Given the description of an element on the screen output the (x, y) to click on. 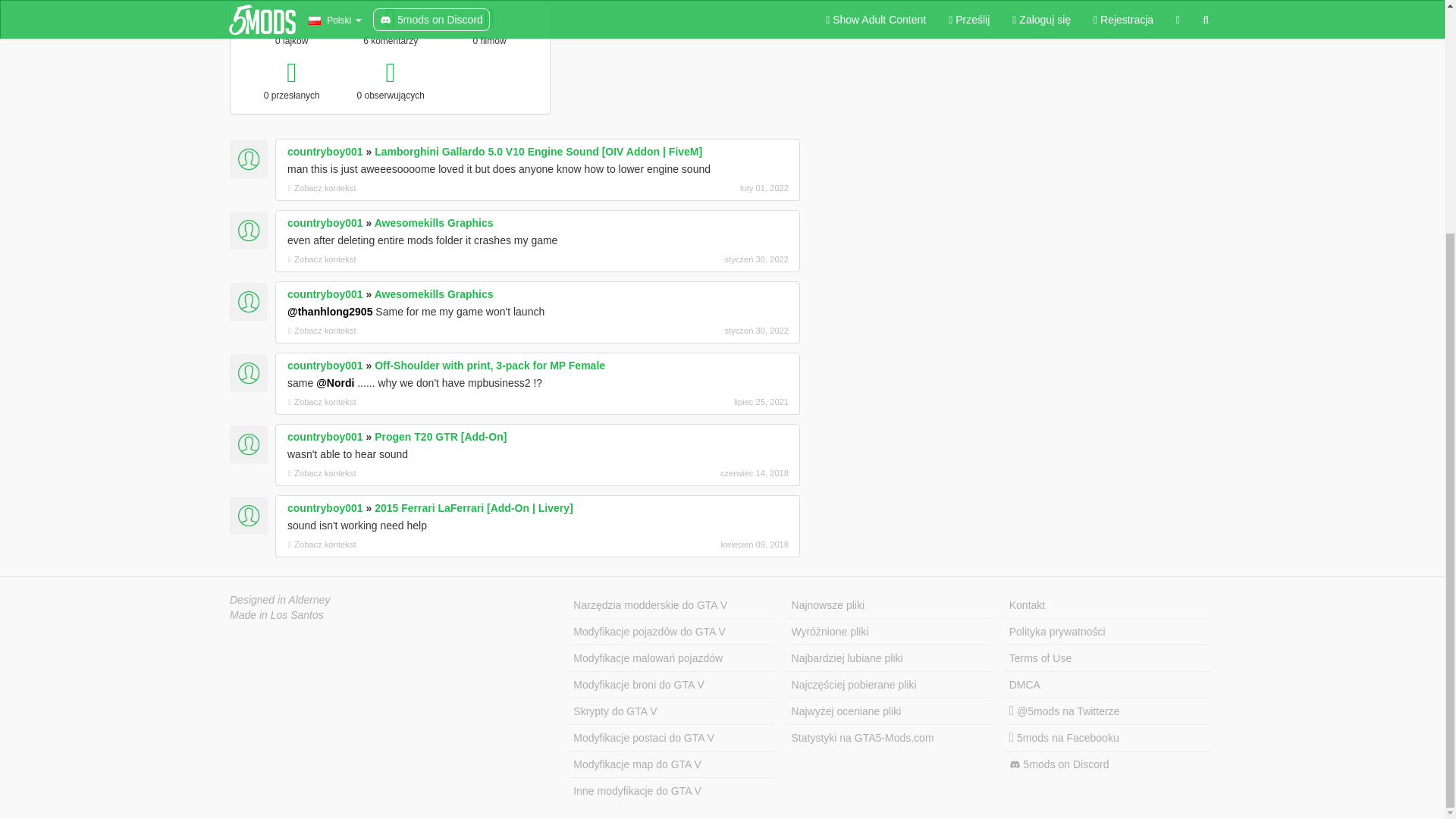
5mods on Discord (1106, 764)
5mods na Facebooku (1106, 737)
